Given the description of an element on the screen output the (x, y) to click on. 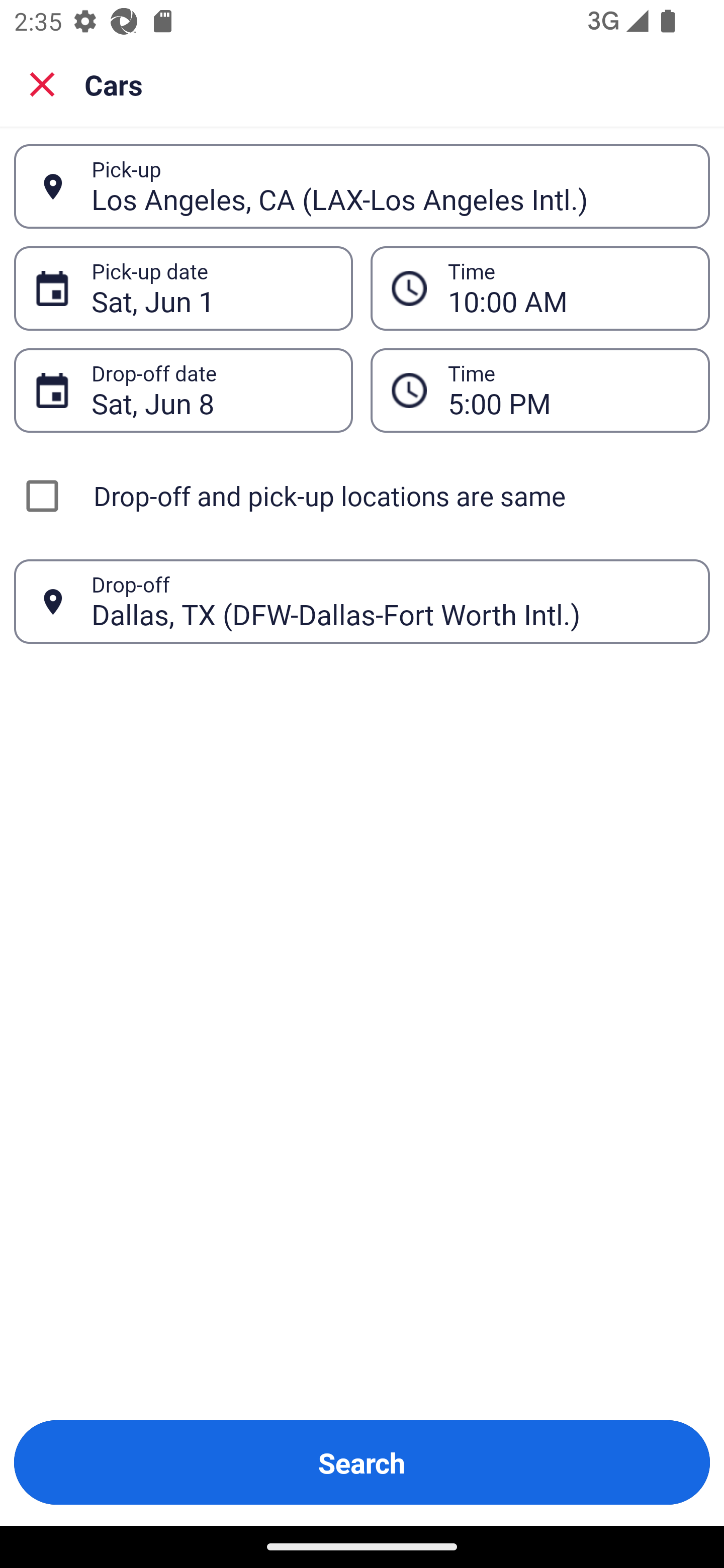
Close search screen (41, 83)
Los Angeles, CA (LAX-Los Angeles Intl.) Pick-up (361, 186)
Los Angeles, CA (LAX-Los Angeles Intl.) (389, 186)
Sat, Jun 1 Pick-up date (183, 288)
10:00 AM (540, 288)
Sat, Jun 1 (211, 288)
10:00 AM (568, 288)
Sat, Jun 8 Drop-off date (183, 390)
5:00 PM (540, 390)
Sat, Jun 8 (211, 390)
5:00 PM (568, 390)
Drop-off and pick-up locations are same (361, 495)
Dallas, TX (DFW-Dallas-Fort Worth Intl.) Drop-off (361, 601)
Dallas, TX (DFW-Dallas-Fort Worth Intl.) (389, 601)
Search Button Search (361, 1462)
